Given the description of an element on the screen output the (x, y) to click on. 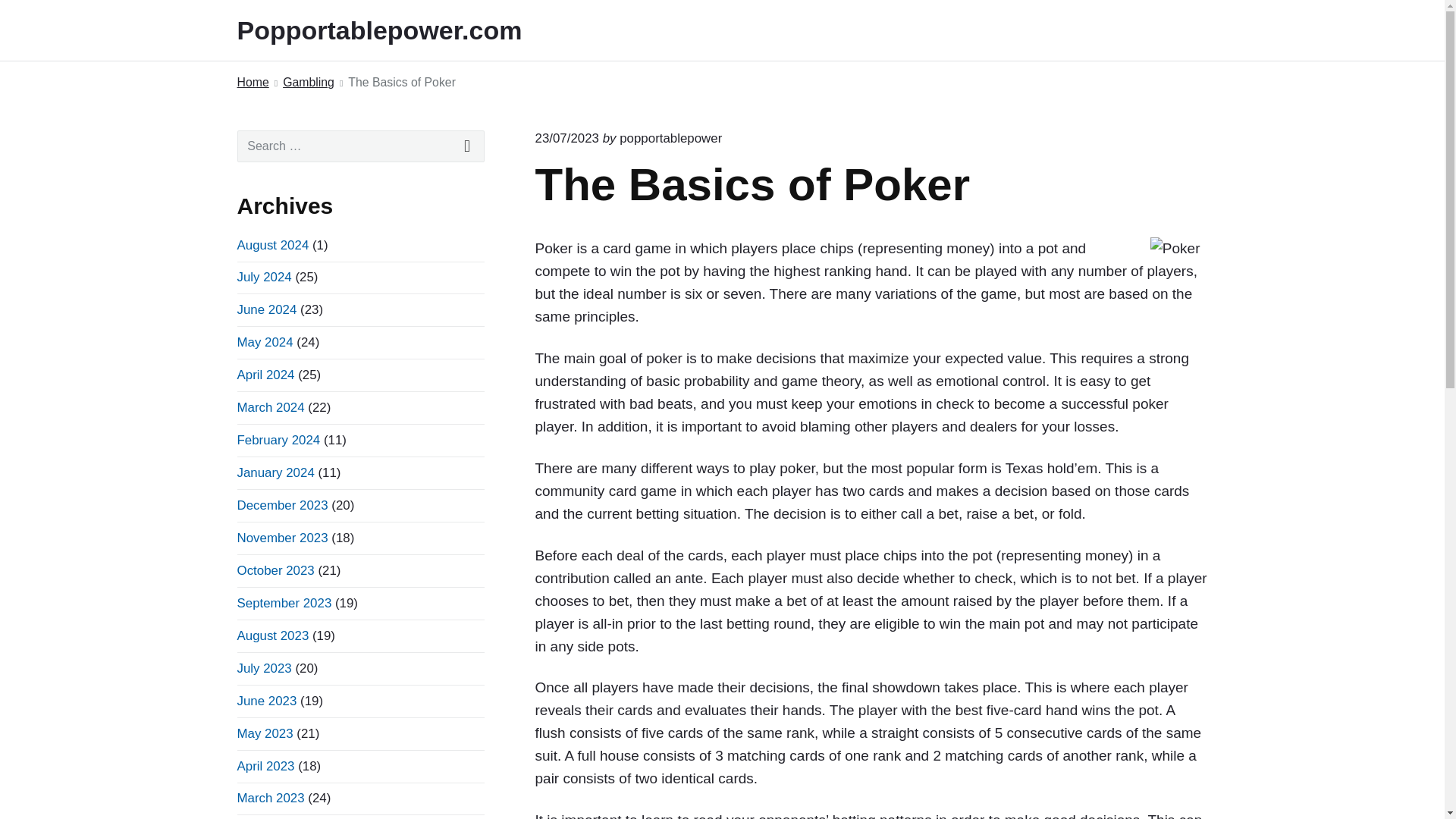
May 2024 (263, 341)
September 2023 (283, 603)
March 2023 (269, 798)
April 2023 (264, 766)
June 2023 (266, 700)
Search for: (359, 146)
January 2024 (274, 472)
February 2024 (277, 440)
May 2023 (263, 733)
July 2023 (263, 667)
